Given the description of an element on the screen output the (x, y) to click on. 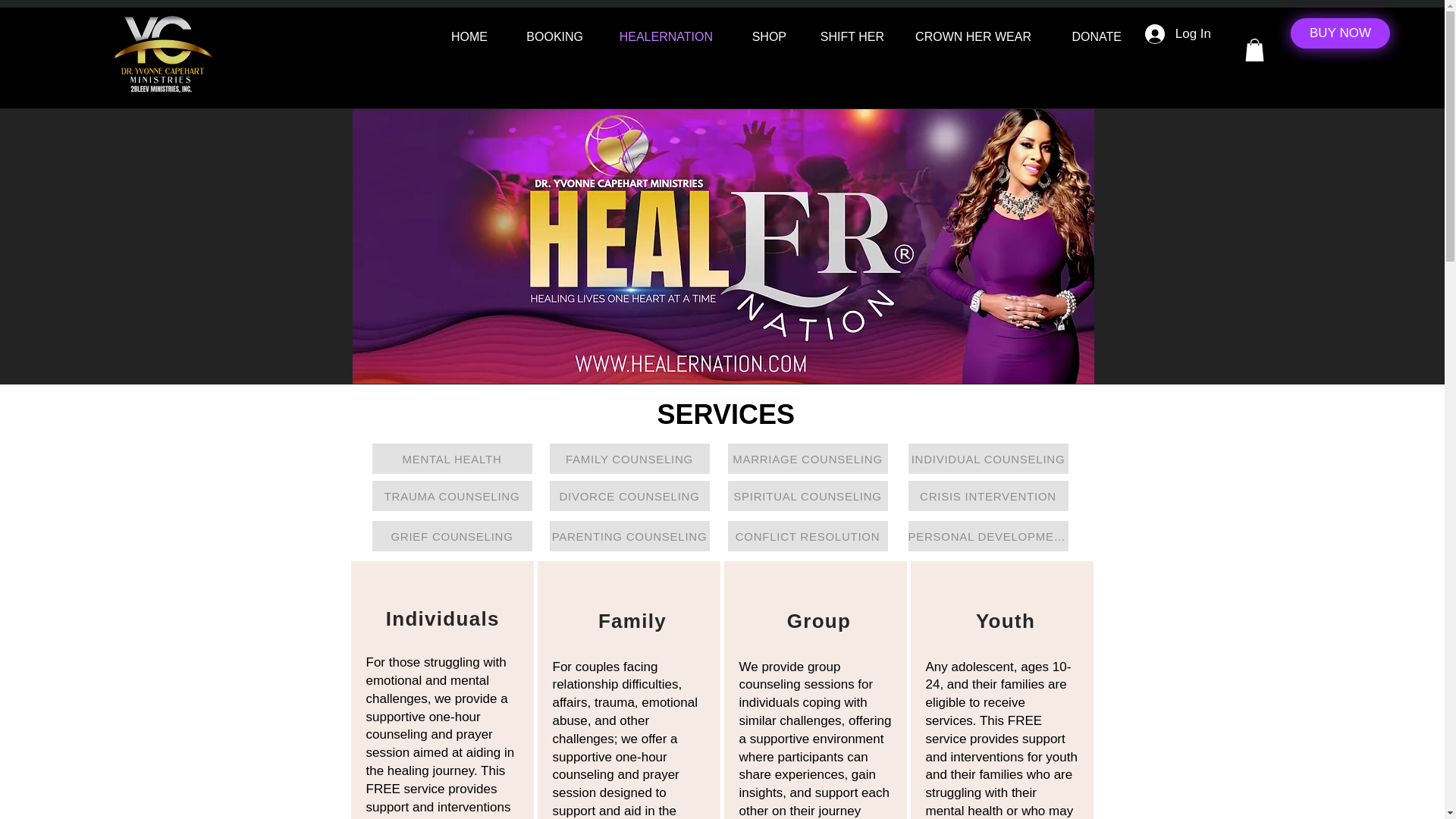
SHOP (760, 37)
CRISIS INTERVENTION (988, 495)
BOOKING (546, 37)
HOME (462, 37)
DIVORCE COUNSELING (628, 495)
MENTAL HEALTH (451, 458)
CROWN HER WEAR (968, 37)
BUY NOW (1340, 33)
MARRIAGE COUNSELING (808, 458)
TRAUMA COUNSELING (451, 495)
